Given the description of an element on the screen output the (x, y) to click on. 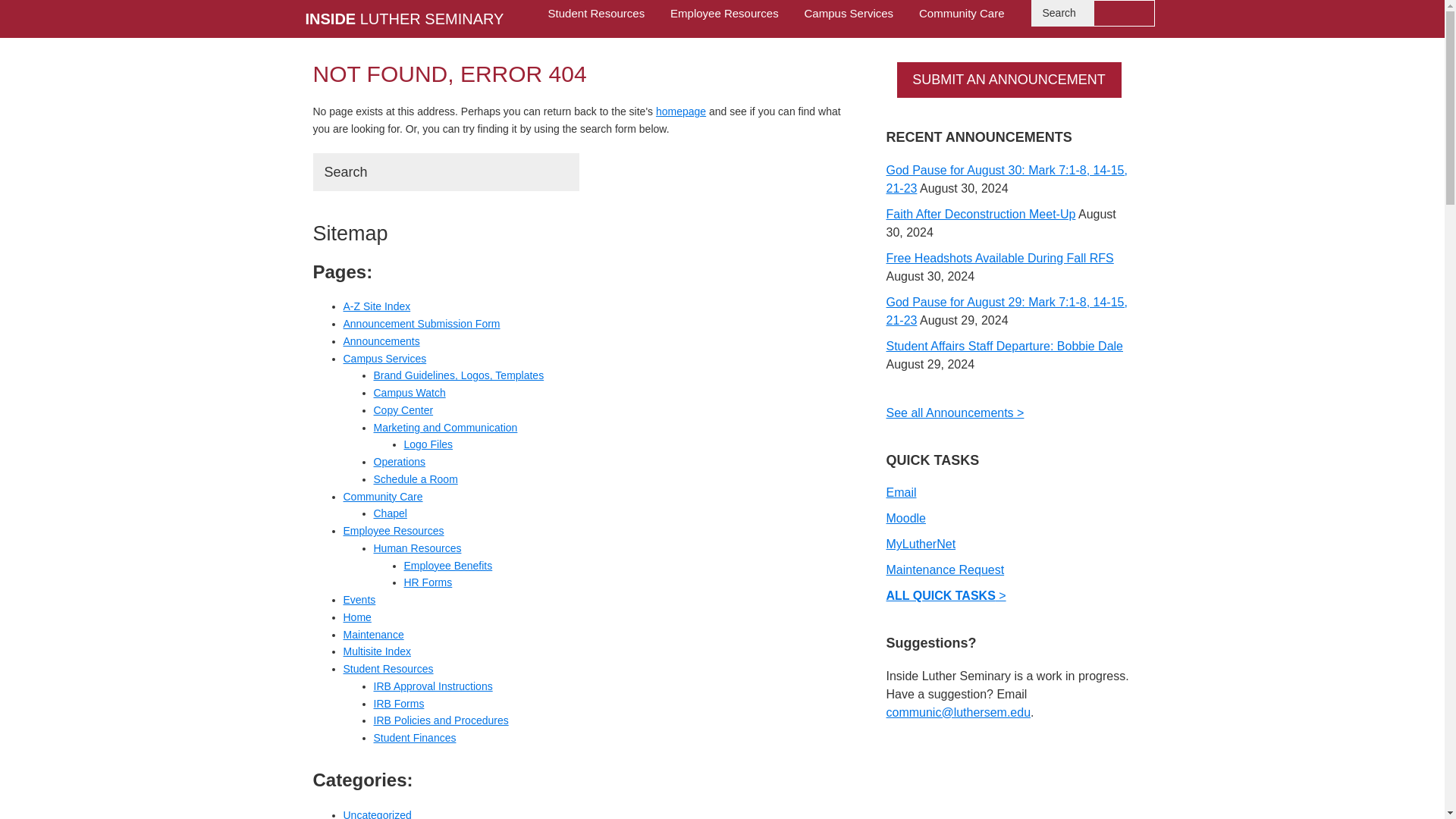
Schedule a Room (414, 479)
Search (556, 172)
Copy Center (402, 410)
Campus Services (384, 358)
Uncategorized (376, 814)
INSIDE LUTHER SEMINARY (403, 18)
Events (358, 599)
Brand Guidelines, Logos, Templates (457, 375)
Campus Services (849, 13)
Student Resources (596, 13)
